Given the description of an element on the screen output the (x, y) to click on. 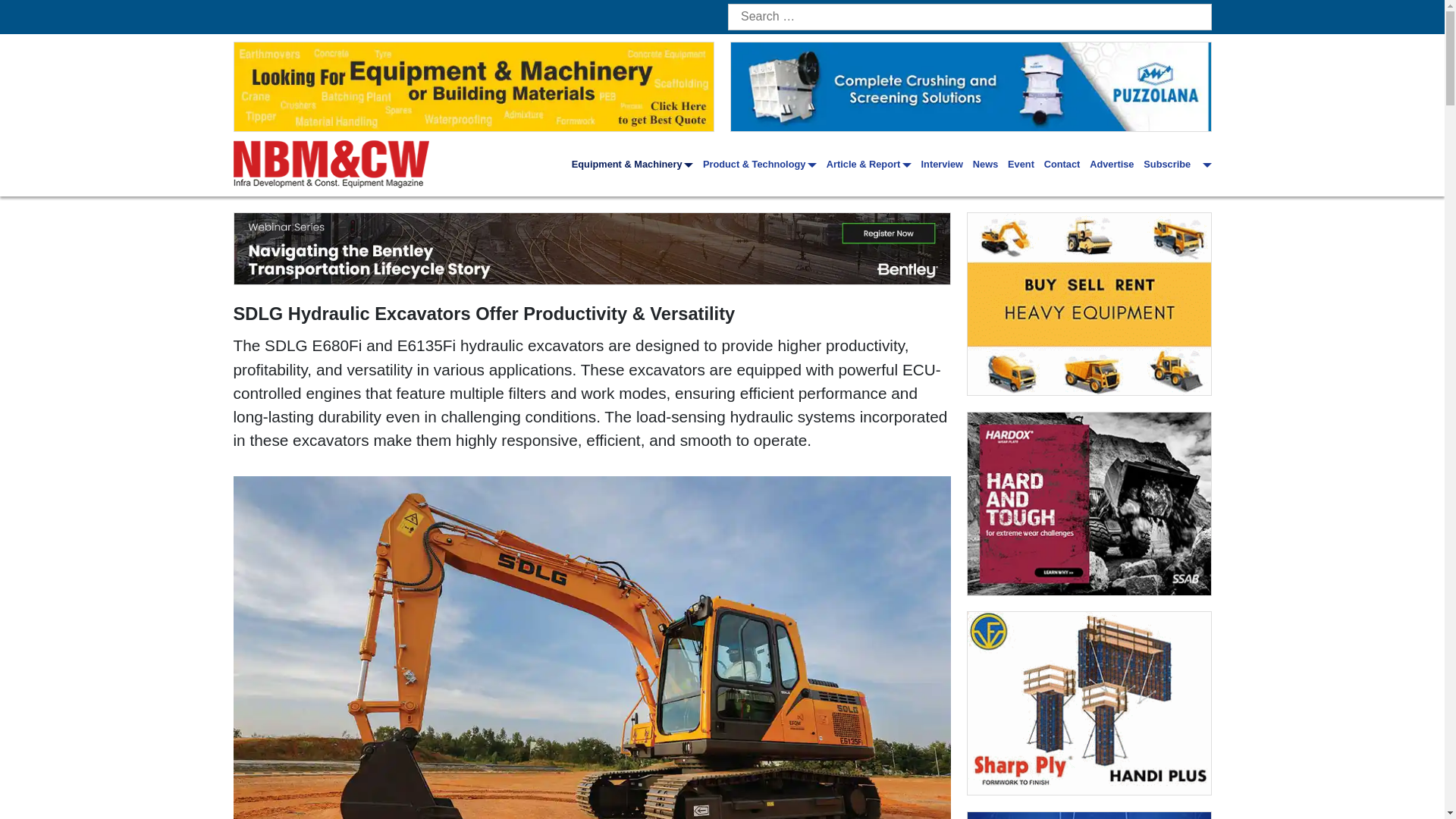
Sharp Ply - Formwork to finish (1089, 702)
Navigating the Bentley Transportation Lifecycle Story (591, 248)
Puzzolana - Complete Crushing and Screening Solutions (970, 86)
Kone - DX Class Elevator (1089, 815)
Infrabazaar - One STOP SHOP for all your INFRA needs (1089, 303)
